Given the description of an element on the screen output the (x, y) to click on. 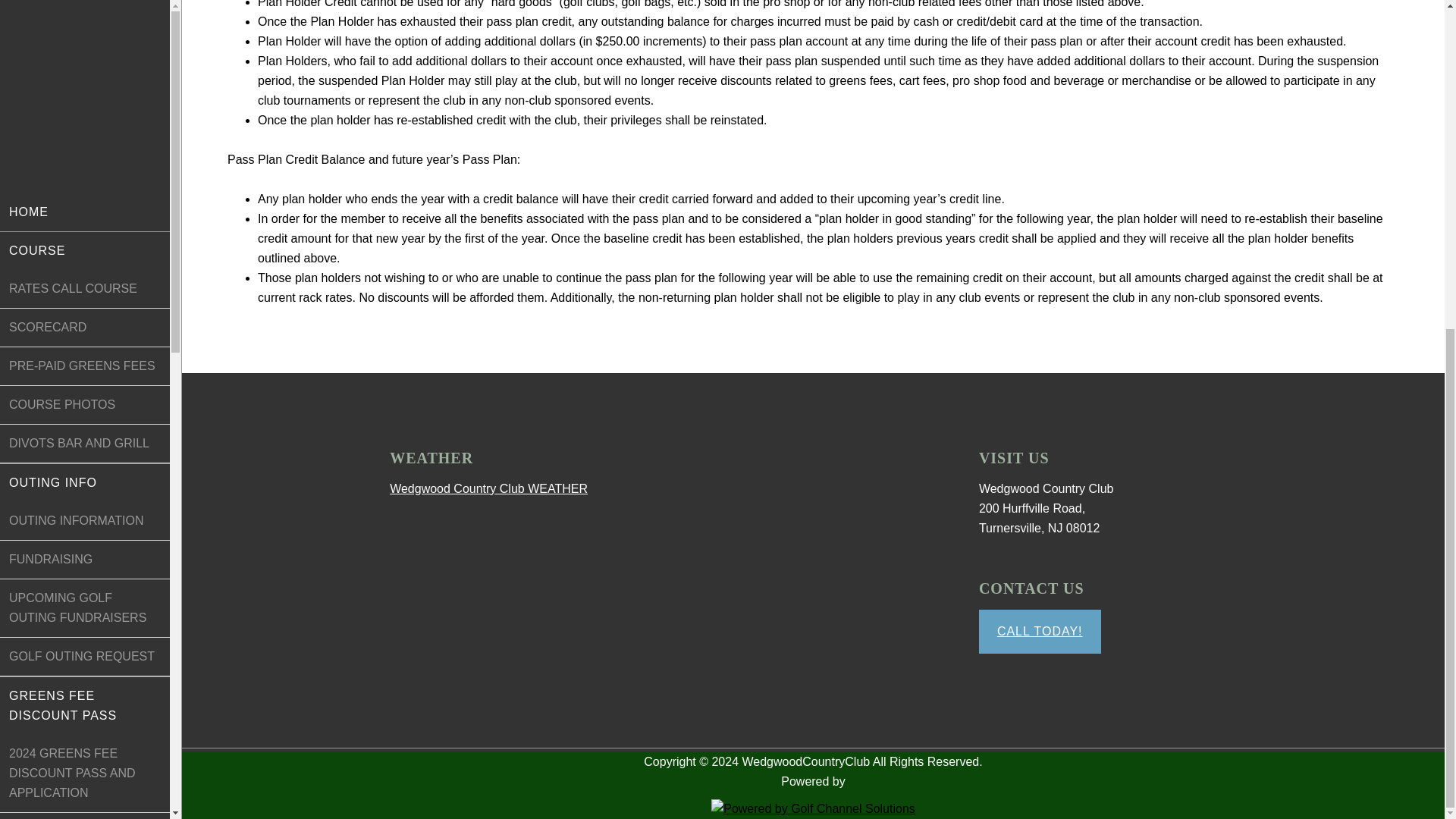
UPSTAIRS BANQUET ROOM IMAGES (85, 783)
FIREPLACE ROOM IMAGES (85, 725)
2024 GREENS FEE DISCOUNT PASS AND APPLICATION (85, 229)
FUNDRAISING (85, 17)
UPCOMING GOLF OUTING FUNDRAISERS (85, 64)
GREENS FEE DISCOUNT PASS (85, 161)
MONTHLY BILLING AGREEMENT (85, 375)
GOLF OUTING REQUEST (85, 112)
WEDDING MENUS (85, 618)
GRAND BALLROOM IMAGES (85, 667)
